Given the description of an element on the screen output the (x, y) to click on. 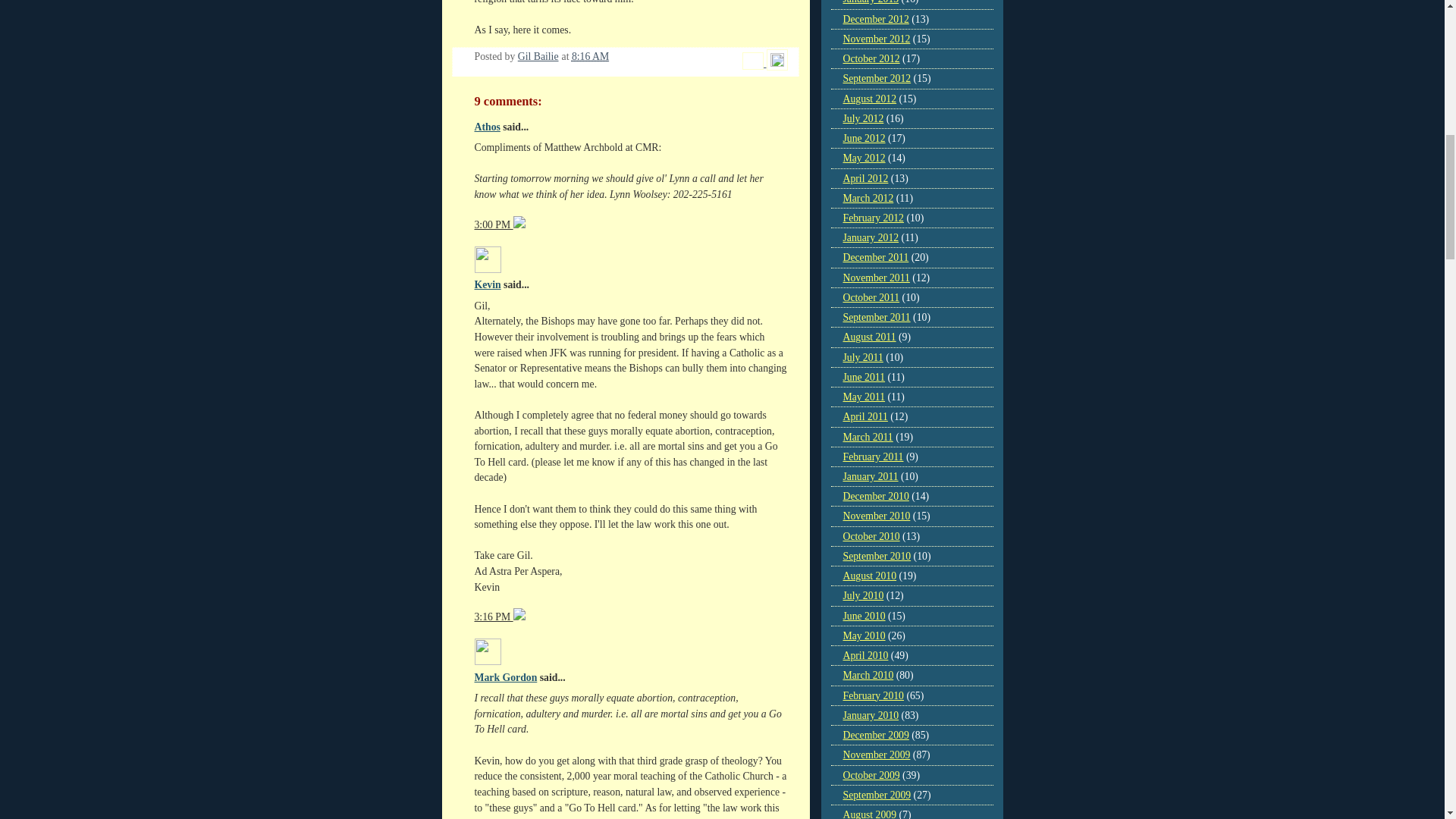
8:16 AM (590, 56)
Kevin (487, 284)
Email Post (753, 62)
Mark Gordon (505, 677)
author profile (538, 56)
Delete Comment (519, 224)
3:00 PM (493, 224)
comment permalink (493, 616)
comment permalink (493, 224)
Athos (487, 126)
3:16 PM (493, 616)
Delete Comment (519, 616)
Edit Post (776, 62)
permanent link (590, 56)
Kevin (487, 259)
